Given the description of an element on the screen output the (x, y) to click on. 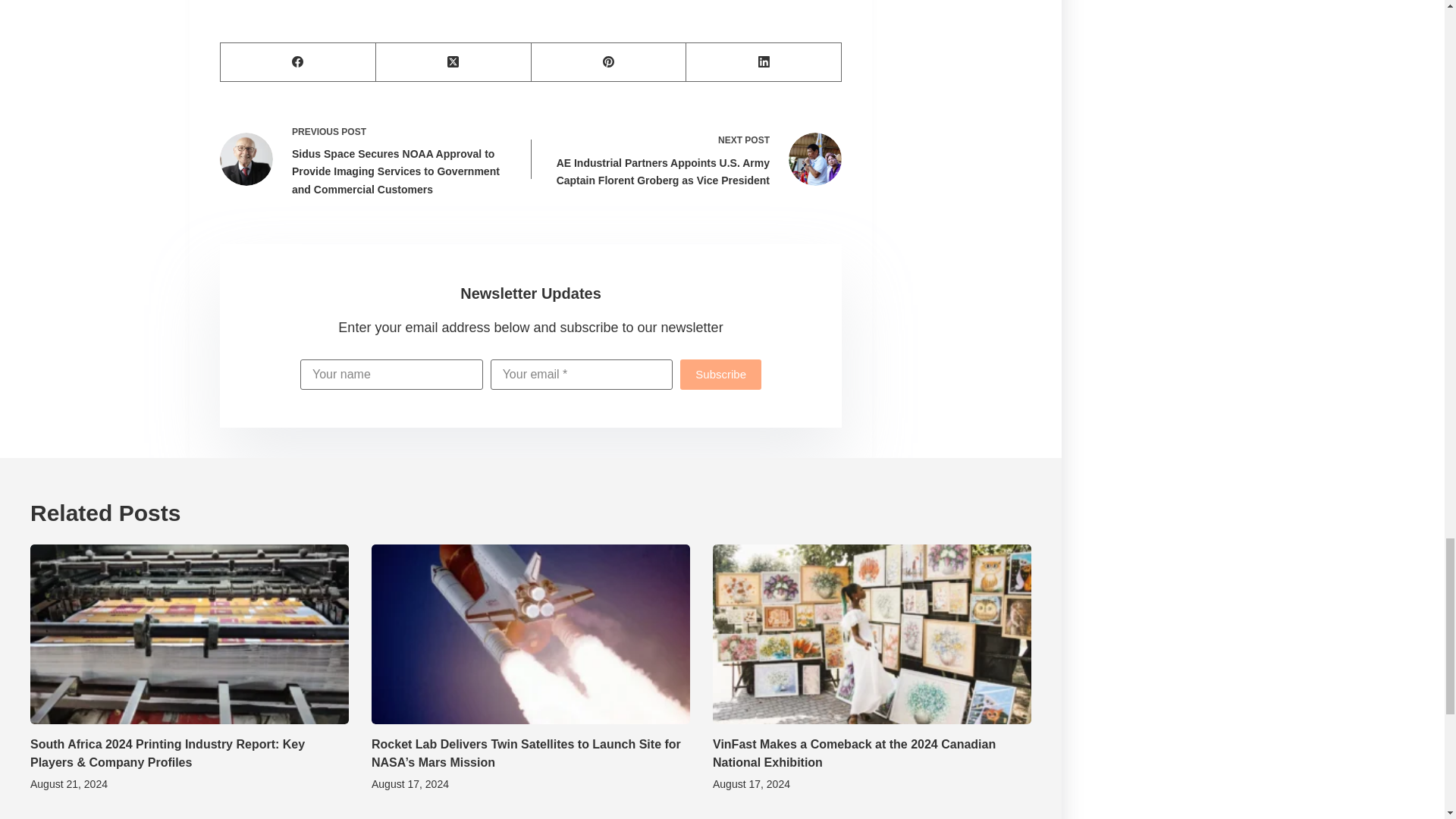
Subscribe (720, 374)
